Given the description of an element on the screen output the (x, y) to click on. 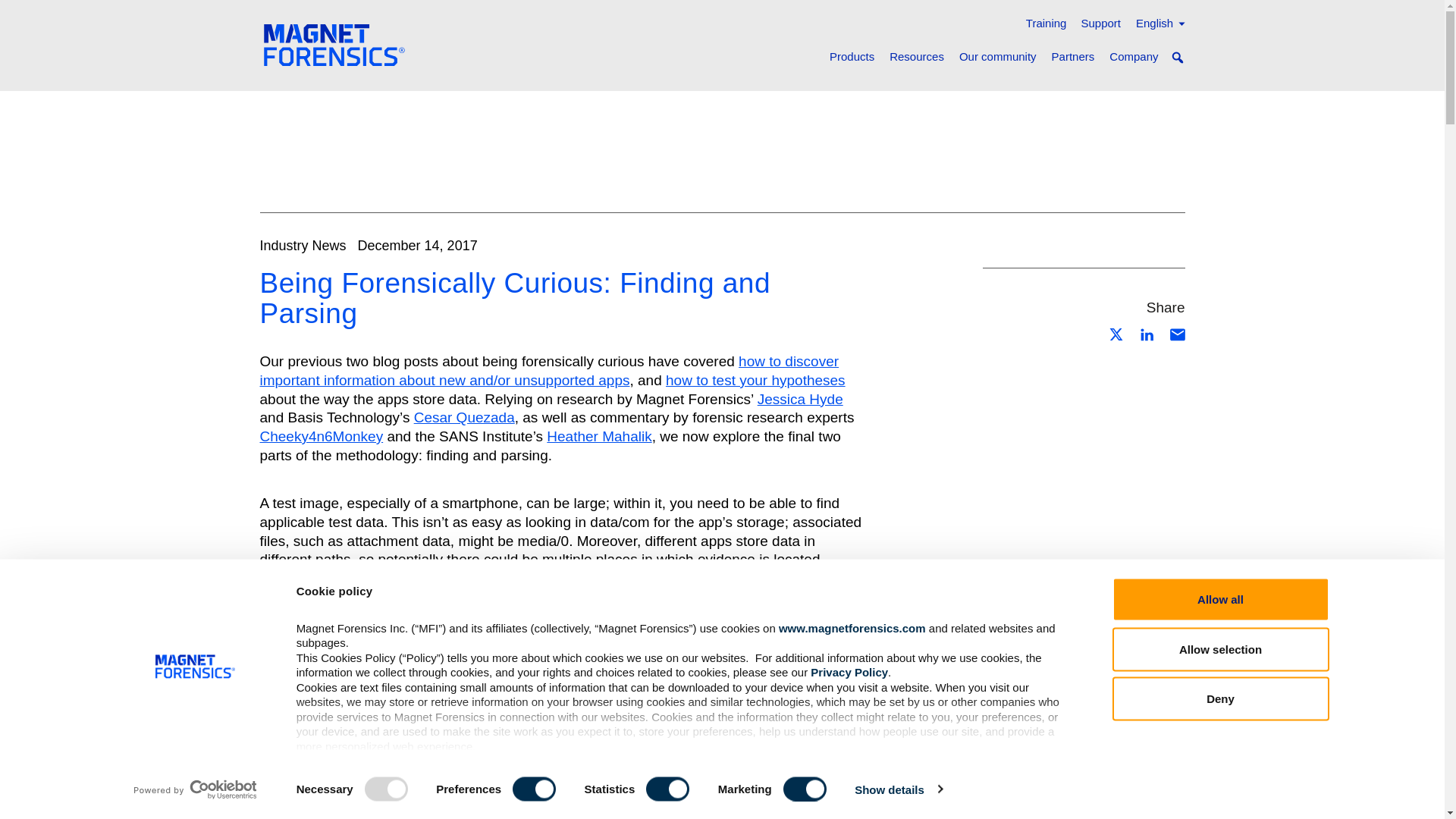
Privacy Policy (849, 671)
www.magnetforensics.com (852, 626)
Show details (898, 789)
